Given the description of an element on the screen output the (x, y) to click on. 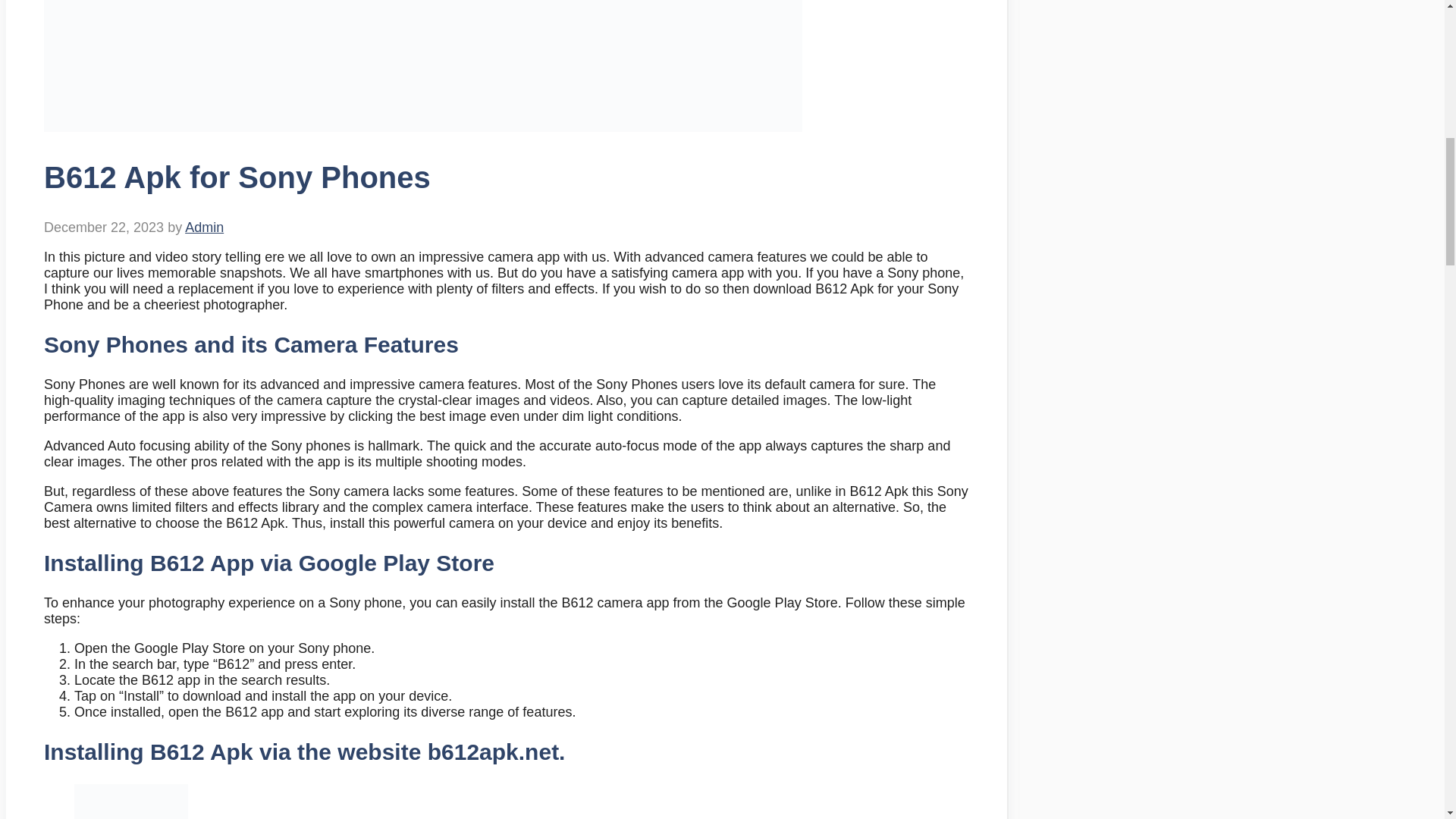
Admin (204, 227)
View all posts by Admin (204, 227)
